Given the description of an element on the screen output the (x, y) to click on. 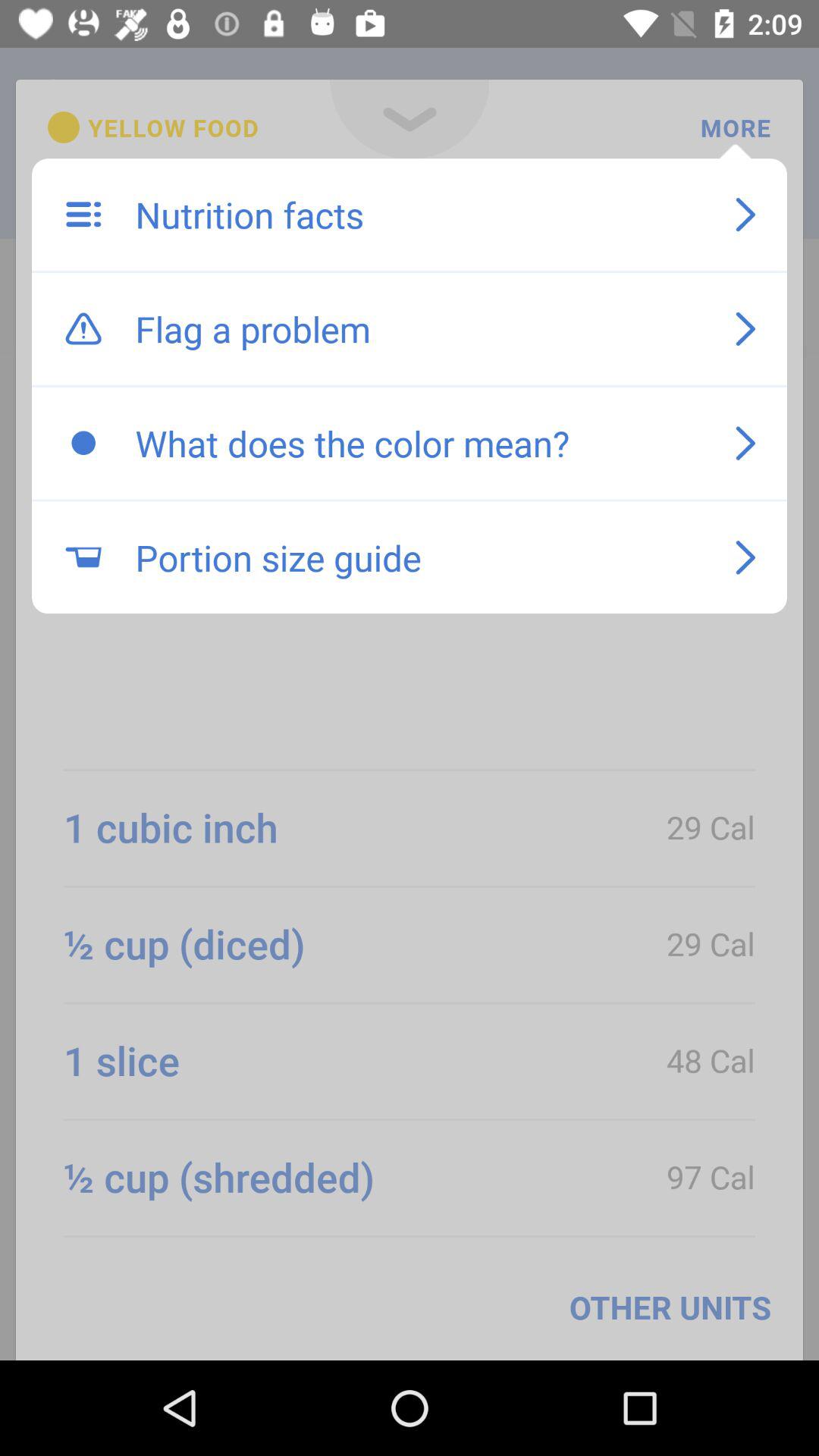
select the item below the flag a problem (419, 443)
